Given the description of an element on the screen output the (x, y) to click on. 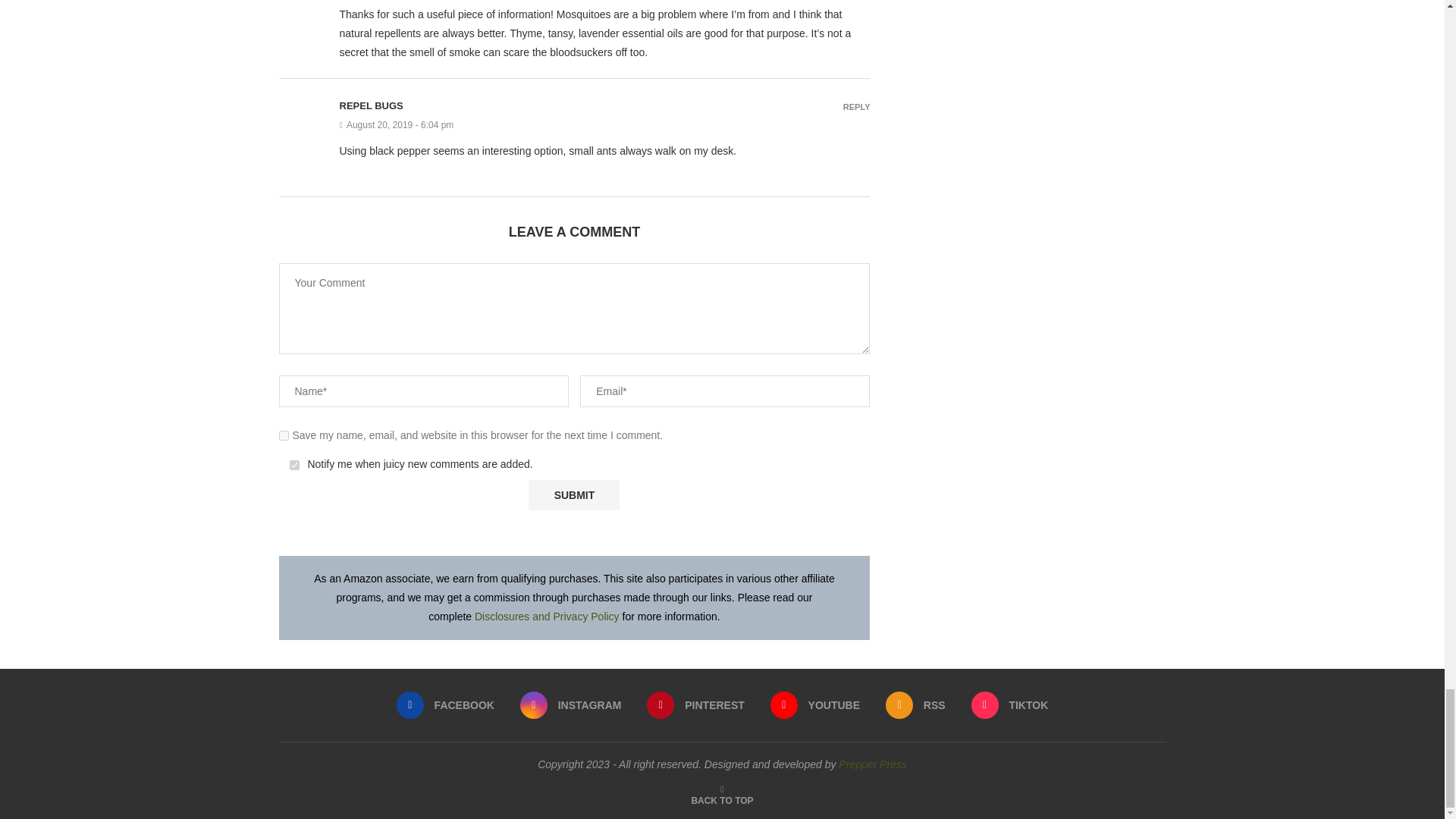
yes (283, 435)
Submit (574, 494)
1 (294, 465)
